Given the description of an element on the screen output the (x, y) to click on. 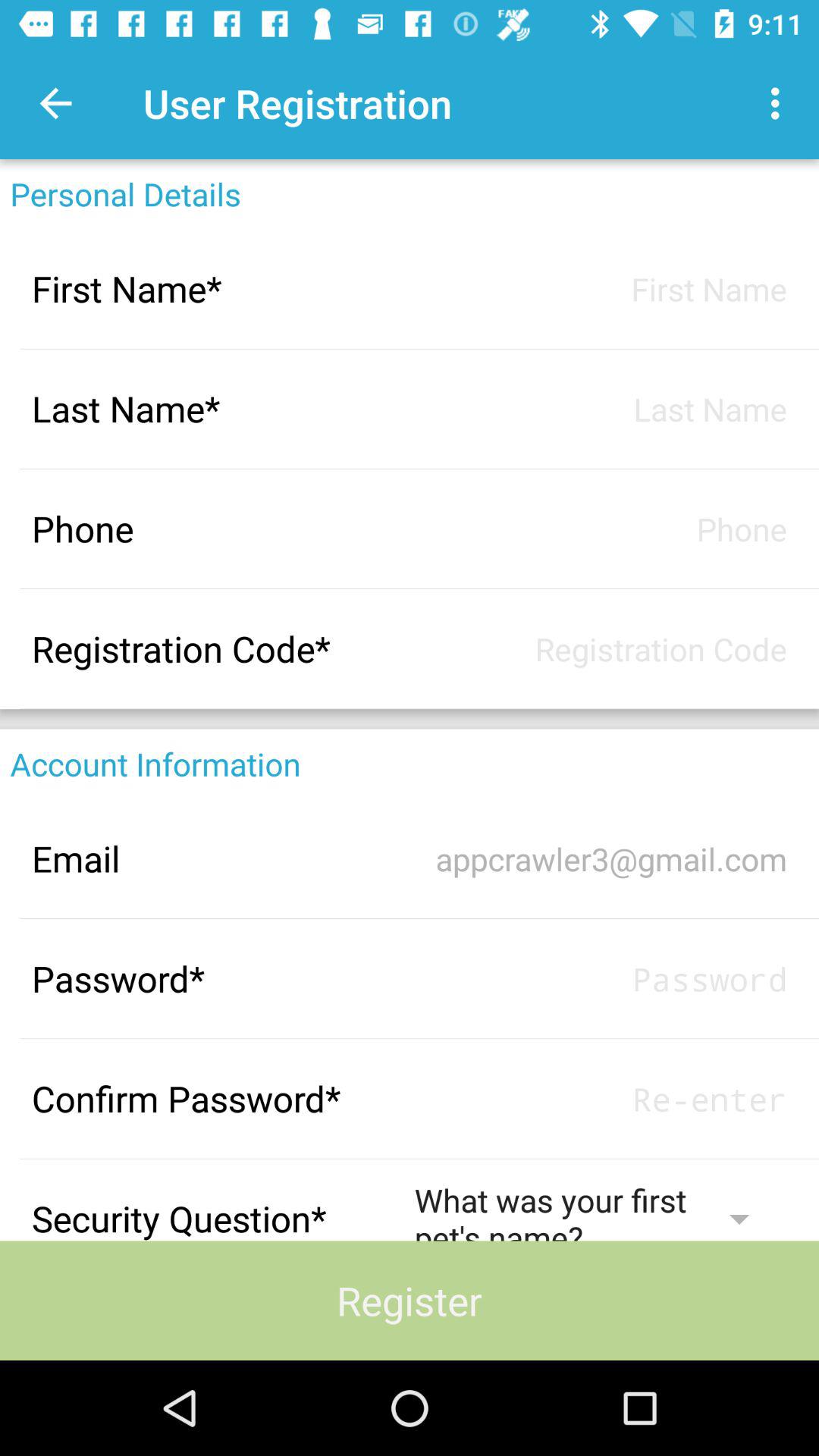
enter username (600, 978)
